Given the description of an element on the screen output the (x, y) to click on. 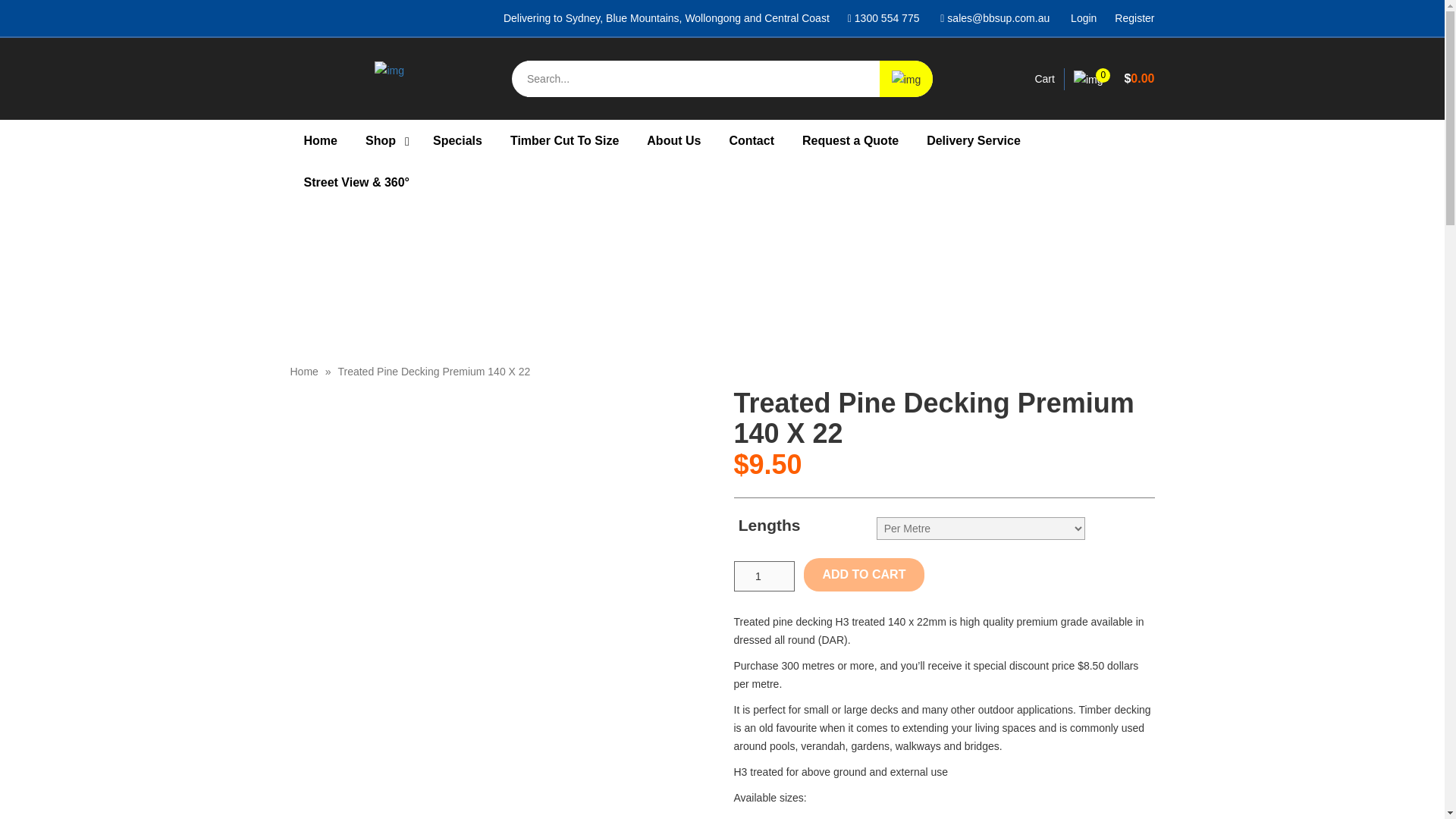
Register (1134, 18)
Request a Quote (850, 140)
Specials (457, 140)
ADD TO CART (863, 574)
About Us (673, 140)
Shop (385, 140)
1 (763, 576)
View your shopping cart (1114, 78)
Login (1083, 18)
1300 554 775 (883, 18)
View your quote (1043, 78)
Home (319, 140)
Delivery Service (972, 140)
Cart (1043, 78)
